Given the description of an element on the screen output the (x, y) to click on. 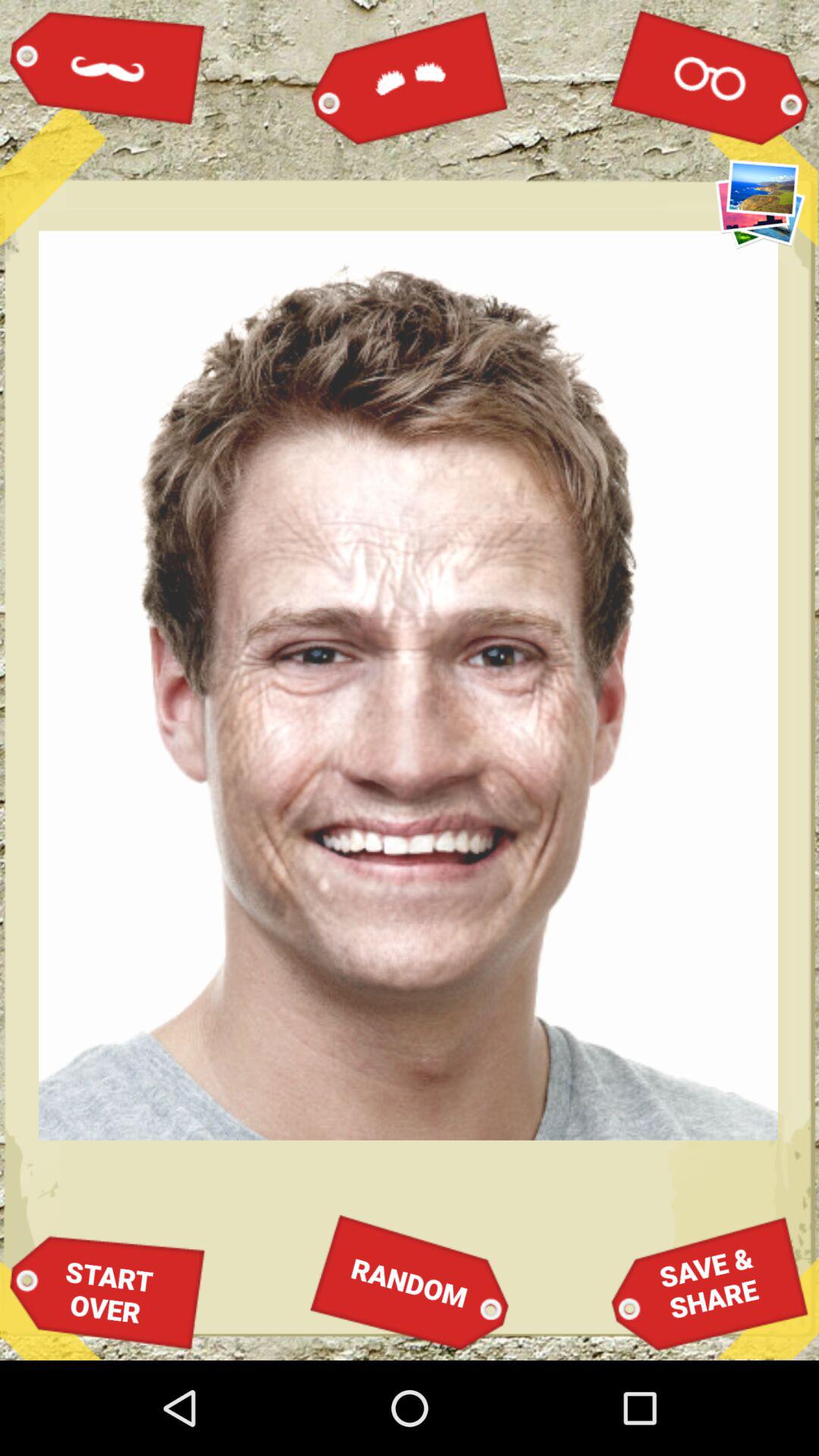
press save &
share at the bottom right corner (709, 1282)
